Given the description of an element on the screen output the (x, y) to click on. 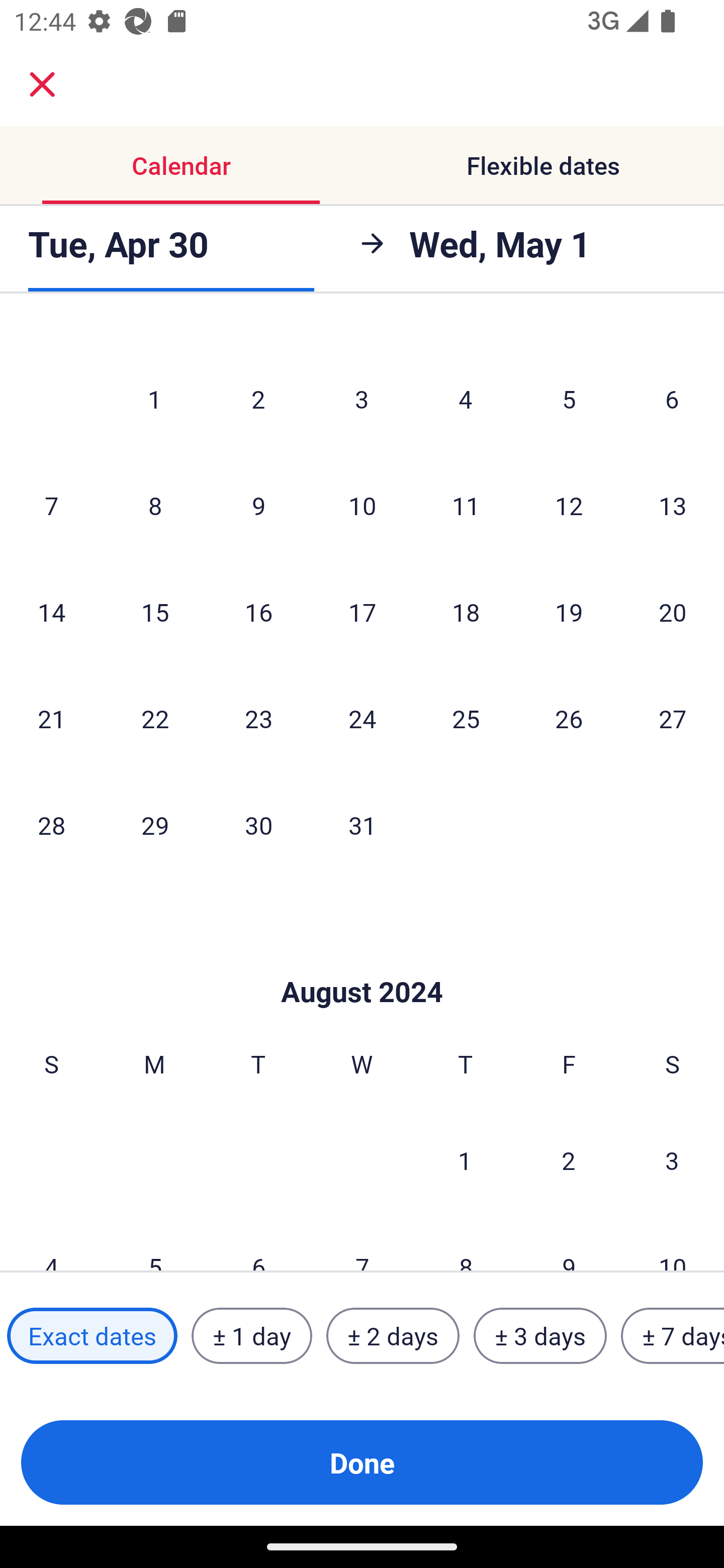
close. (42, 84)
Flexible dates (542, 164)
1 Monday, July 1, 2024 (154, 398)
2 Tuesday, July 2, 2024 (257, 398)
3 Wednesday, July 3, 2024 (361, 398)
4 Thursday, July 4, 2024 (465, 398)
5 Friday, July 5, 2024 (568, 398)
6 Saturday, July 6, 2024 (672, 398)
7 Sunday, July 7, 2024 (51, 504)
8 Monday, July 8, 2024 (155, 504)
9 Tuesday, July 9, 2024 (258, 504)
10 Wednesday, July 10, 2024 (362, 504)
11 Thursday, July 11, 2024 (465, 504)
12 Friday, July 12, 2024 (569, 504)
13 Saturday, July 13, 2024 (672, 504)
14 Sunday, July 14, 2024 (51, 611)
15 Monday, July 15, 2024 (155, 611)
16 Tuesday, July 16, 2024 (258, 611)
17 Wednesday, July 17, 2024 (362, 611)
18 Thursday, July 18, 2024 (465, 611)
19 Friday, July 19, 2024 (569, 611)
20 Saturday, July 20, 2024 (672, 611)
21 Sunday, July 21, 2024 (51, 717)
22 Monday, July 22, 2024 (155, 717)
23 Tuesday, July 23, 2024 (258, 717)
24 Wednesday, July 24, 2024 (362, 717)
25 Thursday, July 25, 2024 (465, 717)
26 Friday, July 26, 2024 (569, 717)
27 Saturday, July 27, 2024 (672, 717)
28 Sunday, July 28, 2024 (51, 824)
29 Monday, July 29, 2024 (155, 824)
30 Tuesday, July 30, 2024 (258, 824)
31 Wednesday, July 31, 2024 (362, 824)
Skip to Done (362, 961)
1 Thursday, August 1, 2024 (464, 1160)
2 Friday, August 2, 2024 (568, 1160)
3 Saturday, August 3, 2024 (672, 1160)
Exact dates (92, 1335)
± 1 day (251, 1335)
± 2 days (392, 1335)
± 3 days (539, 1335)
± 7 days (672, 1335)
Done (361, 1462)
